Given the description of an element on the screen output the (x, y) to click on. 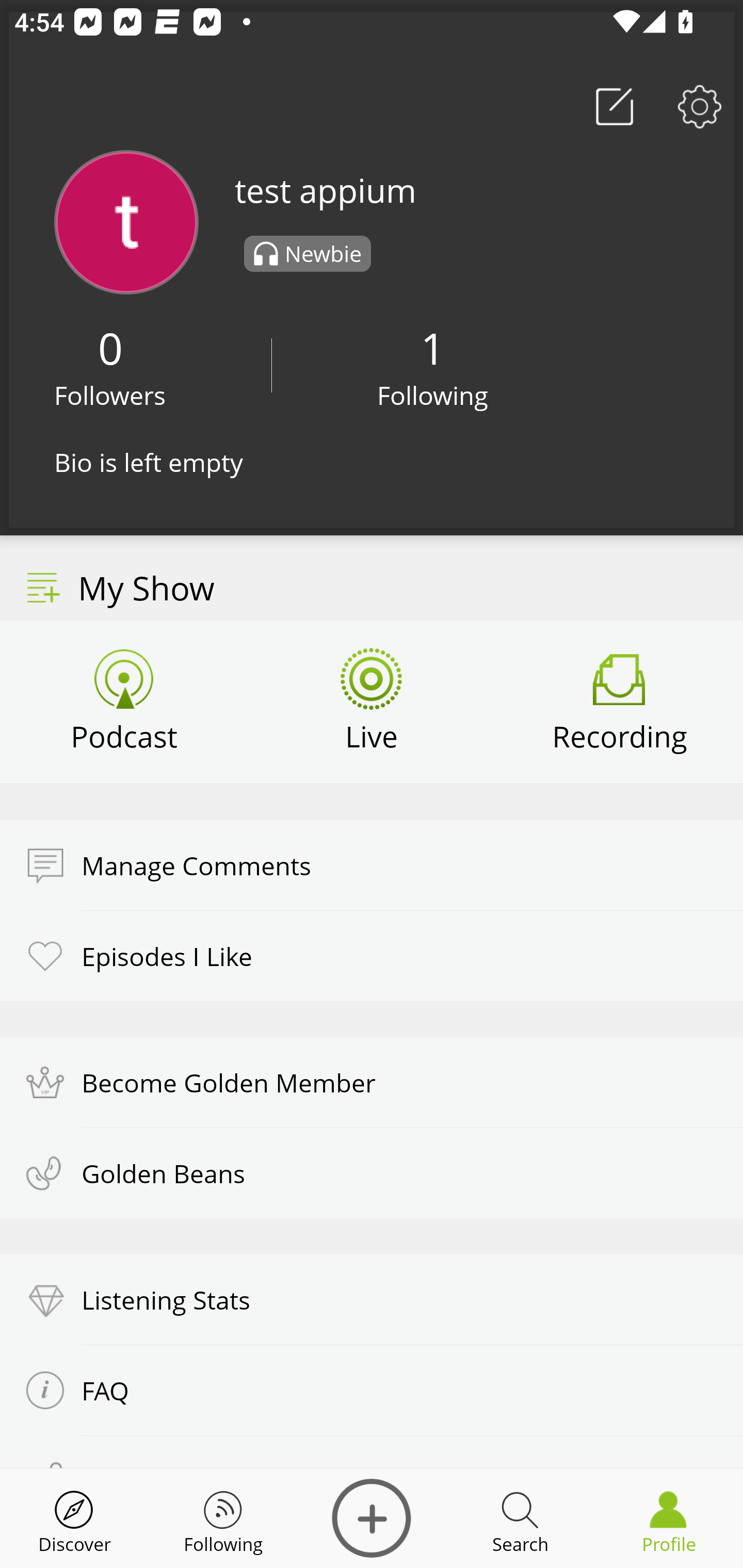
Settings (699, 106)
0 (110, 347)
1 (432, 347)
Followers (110, 394)
Following (432, 394)
Manage Comments (371, 865)
Episodes I Like (371, 955)
Become Golden Member (371, 1082)
Golden Beans (371, 1172)
Listening Stats (371, 1299)
FAQ (371, 1389)
Discover (74, 1518)
Discover Following (222, 1518)
Discover (371, 1518)
Discover Search (519, 1518)
